Given the description of an element on the screen output the (x, y) to click on. 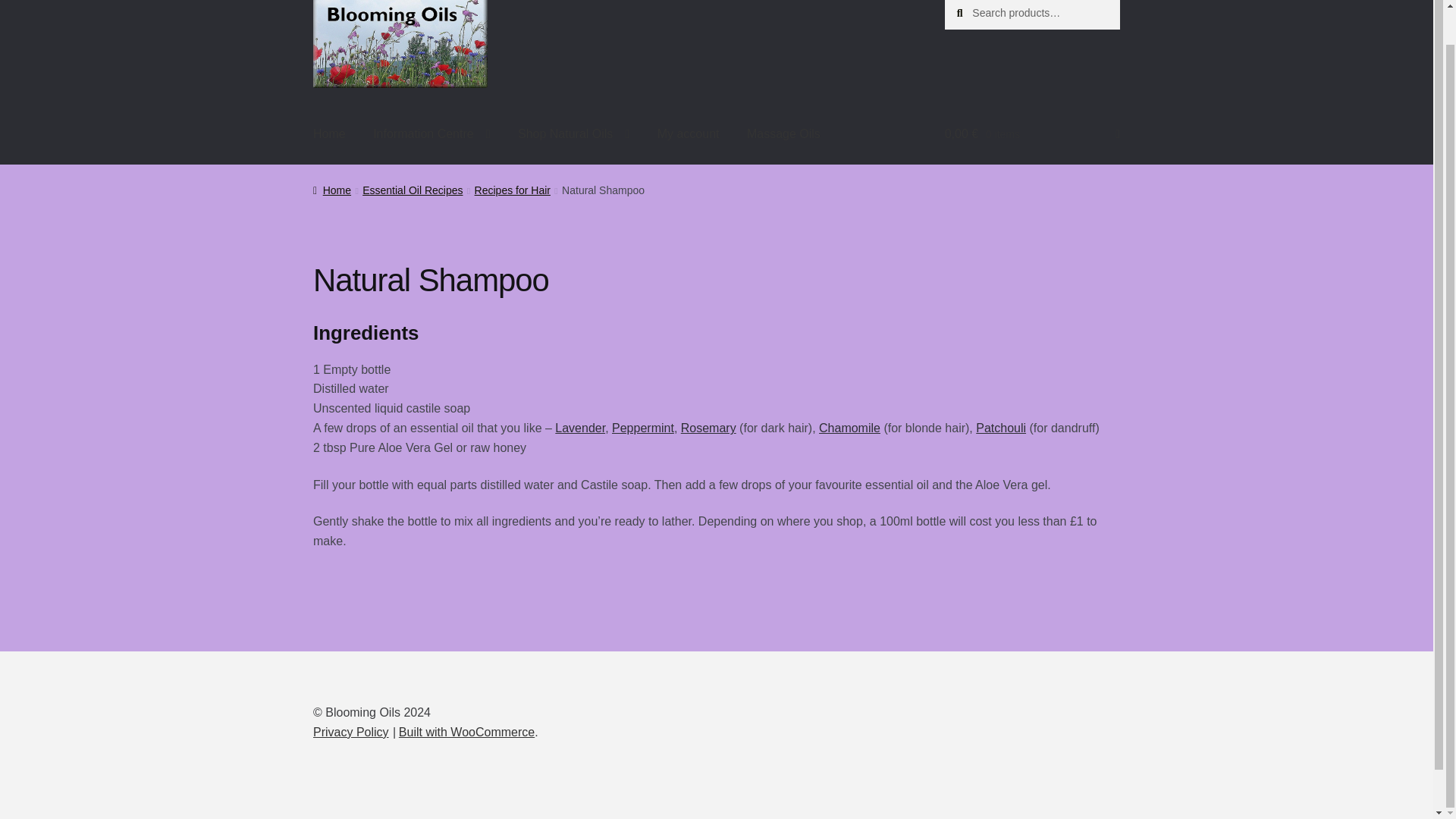
View your shopping basket (1031, 133)
Information Centre (431, 133)
Home (329, 133)
Shop Natural Oils (573, 133)
WooCommerce - The Best eCommerce Platform for WordPress (466, 731)
